Given the description of an element on the screen output the (x, y) to click on. 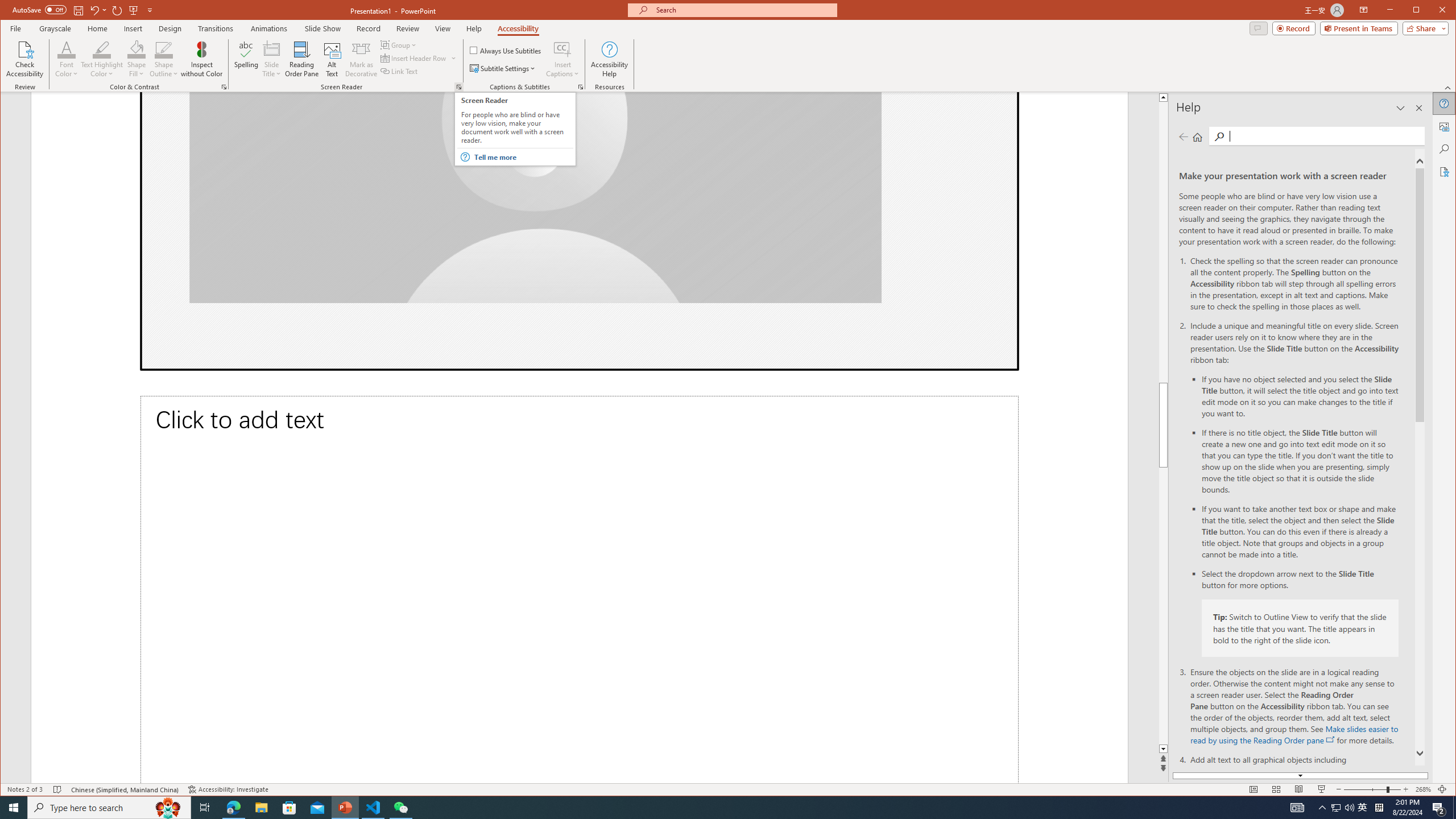
Insert Header Row (418, 57)
Page down (1279, 606)
Captions & Subtitles (580, 86)
File Explorer (261, 807)
AutomationID: 4105 (1297, 807)
